Given the description of an element on the screen output the (x, y) to click on. 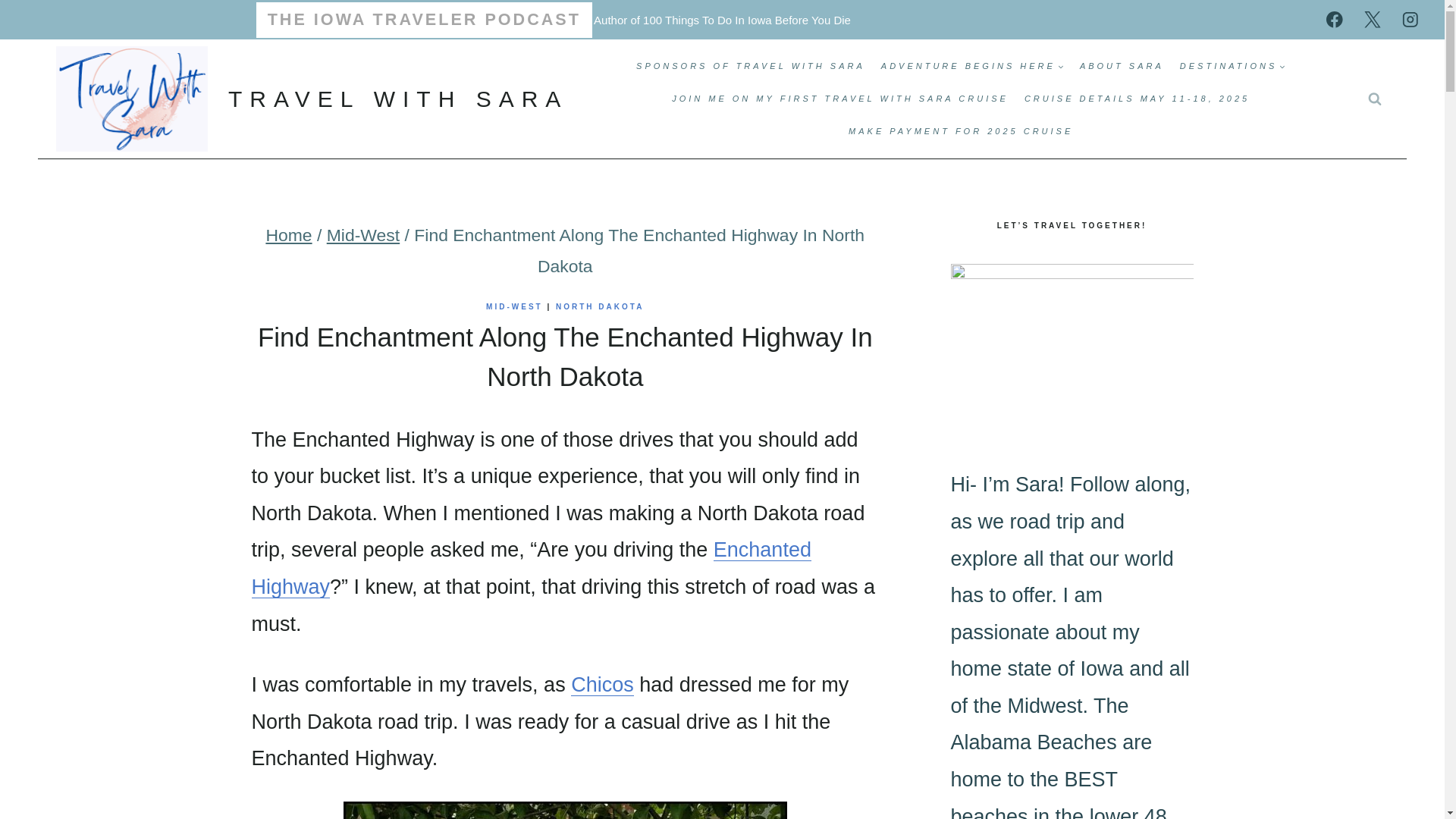
Home (287, 234)
ADVENTURE BEGINS HERE (971, 65)
THE IOWA TRAVELER PODCAST (424, 19)
Let's Travel Together! (1071, 344)
NORTH DAKOTA (599, 306)
Mid-West (362, 234)
JOIN ME ON MY FIRST TRAVEL WITH SARA CRUISE (839, 98)
DESTINATIONS (1232, 65)
TRAVEL WITH SARA (311, 98)
MID-WEST (514, 306)
